Given the description of an element on the screen output the (x, y) to click on. 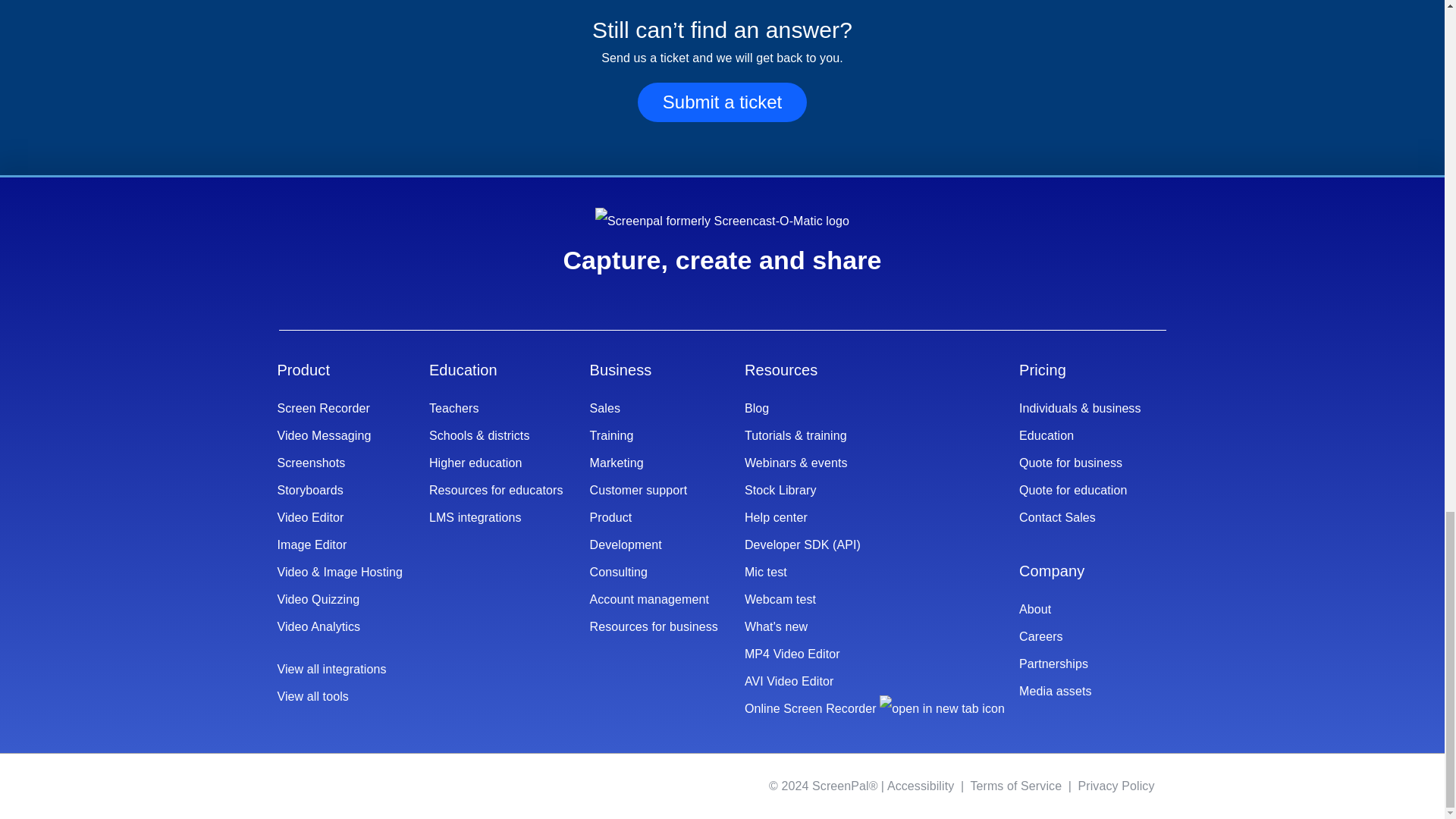
Resources for educators (496, 490)
Consulting (653, 572)
Video Messaging (338, 435)
Teachers (496, 408)
Marketing (653, 462)
LMS integrations (496, 517)
Storyboards (338, 490)
Development (653, 544)
Video Analytics (338, 626)
Submit a ticket (721, 103)
